Given the description of an element on the screen output the (x, y) to click on. 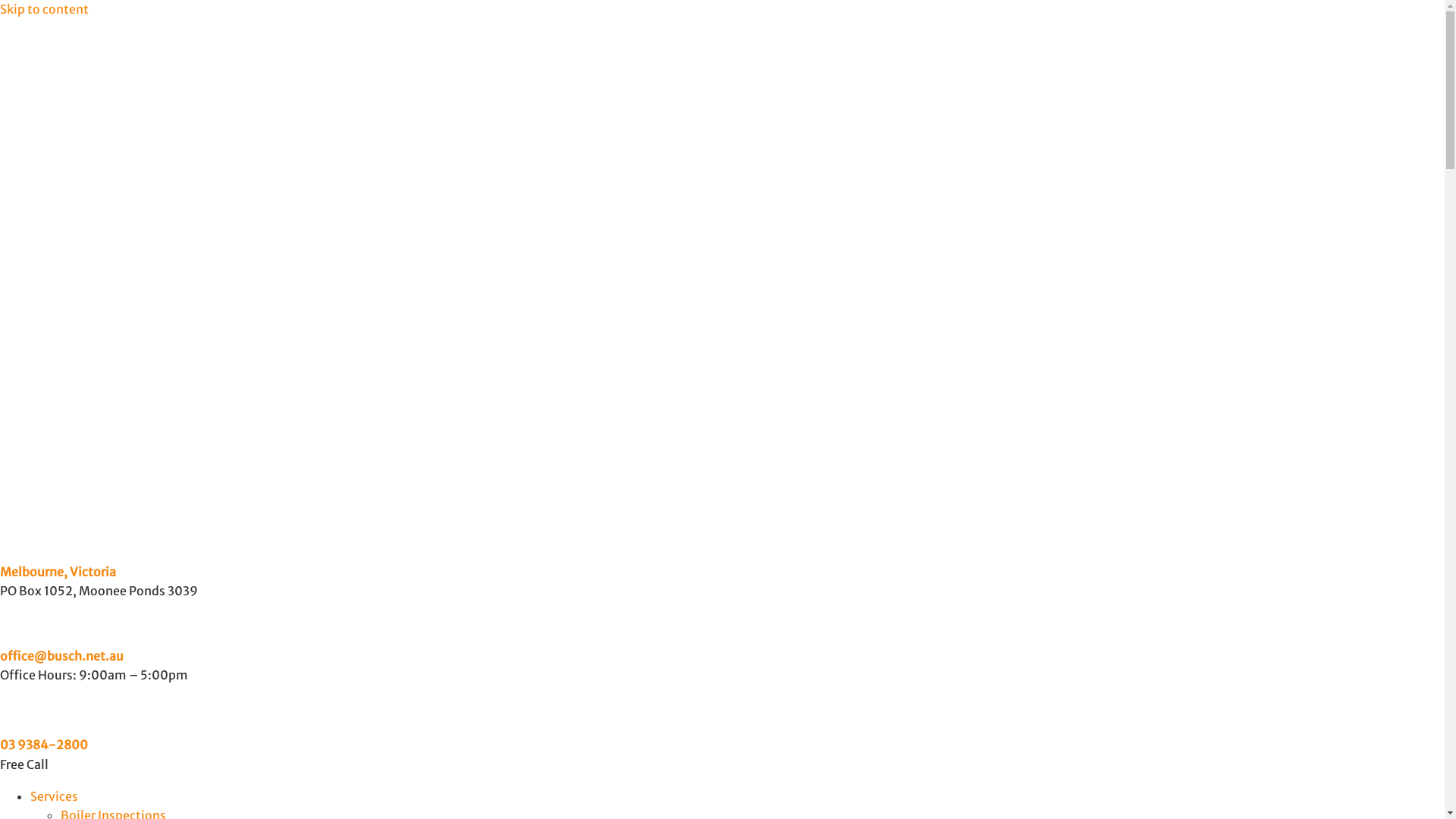
office@busch.net.au Element type: text (61, 655)
03 9384-2800 Element type: text (43, 744)
Services Element type: text (54, 795)
Melbourne, Victoria Element type: text (58, 571)
Skip to content Element type: text (44, 8)
